Given the description of an element on the screen output the (x, y) to click on. 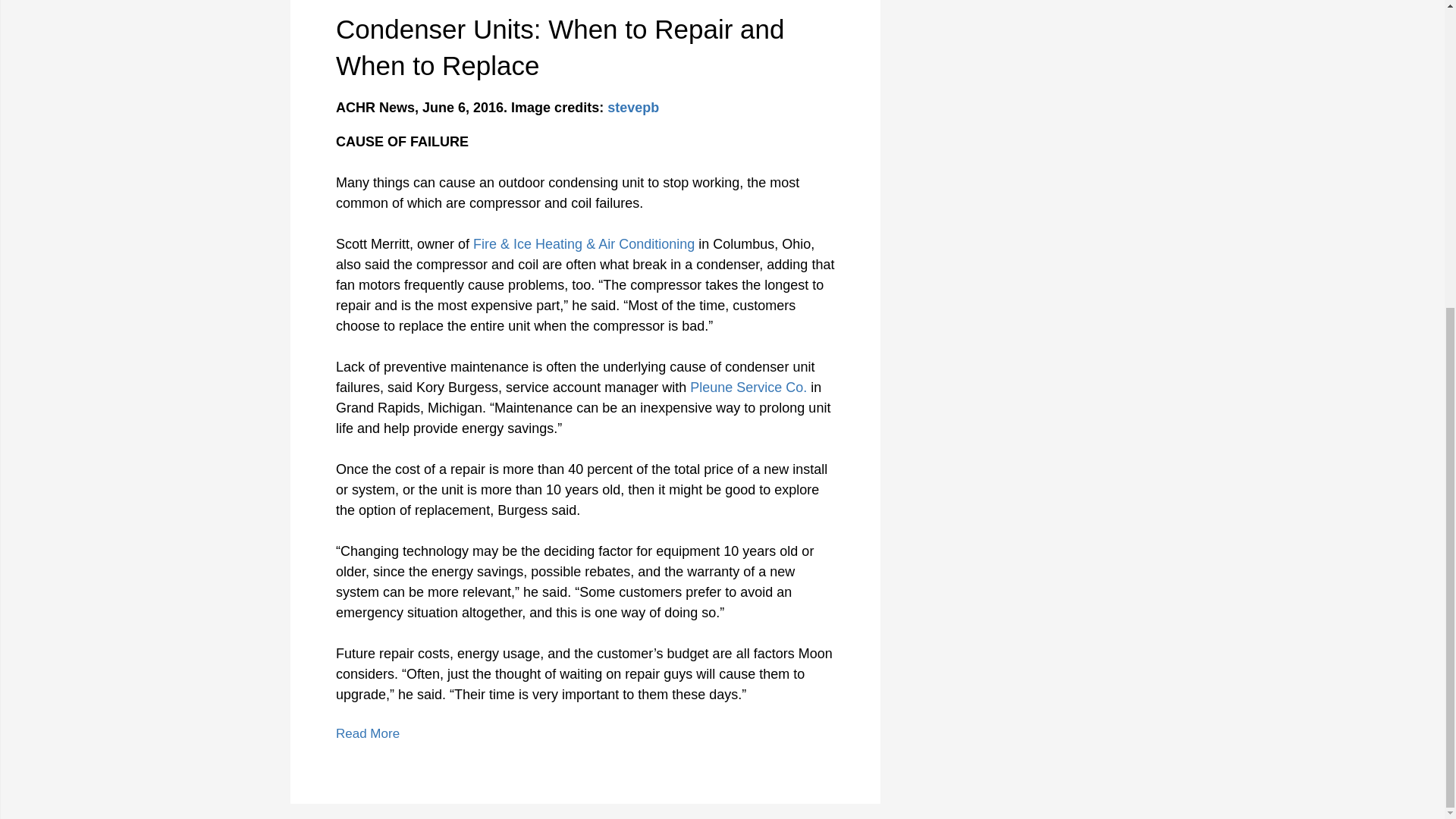
Pleune Service Co. (748, 387)
stevepb (633, 107)
Read More (367, 733)
